Given the description of an element on the screen output the (x, y) to click on. 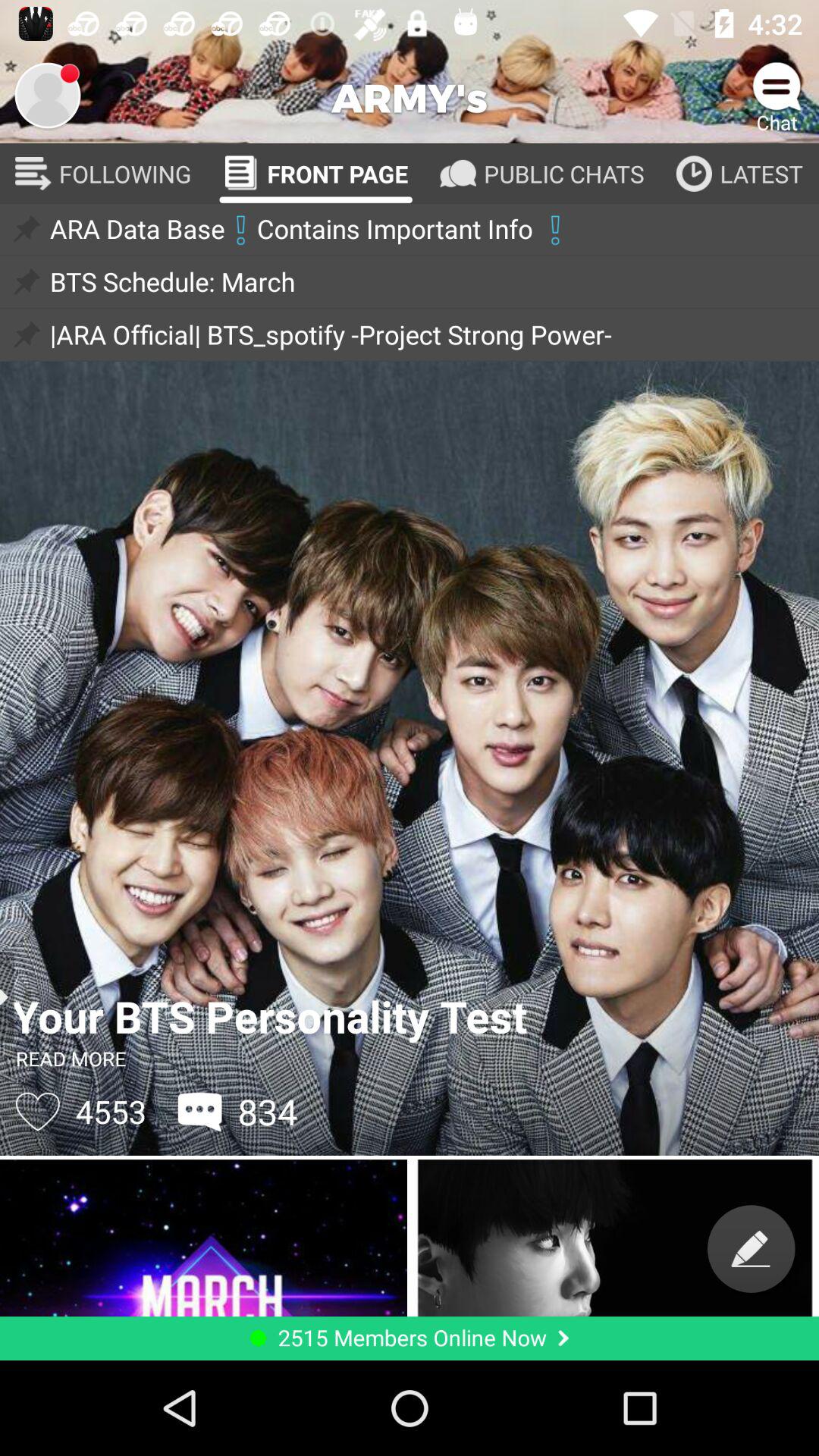
choose the selection (47, 95)
